Given the description of an element on the screen output the (x, y) to click on. 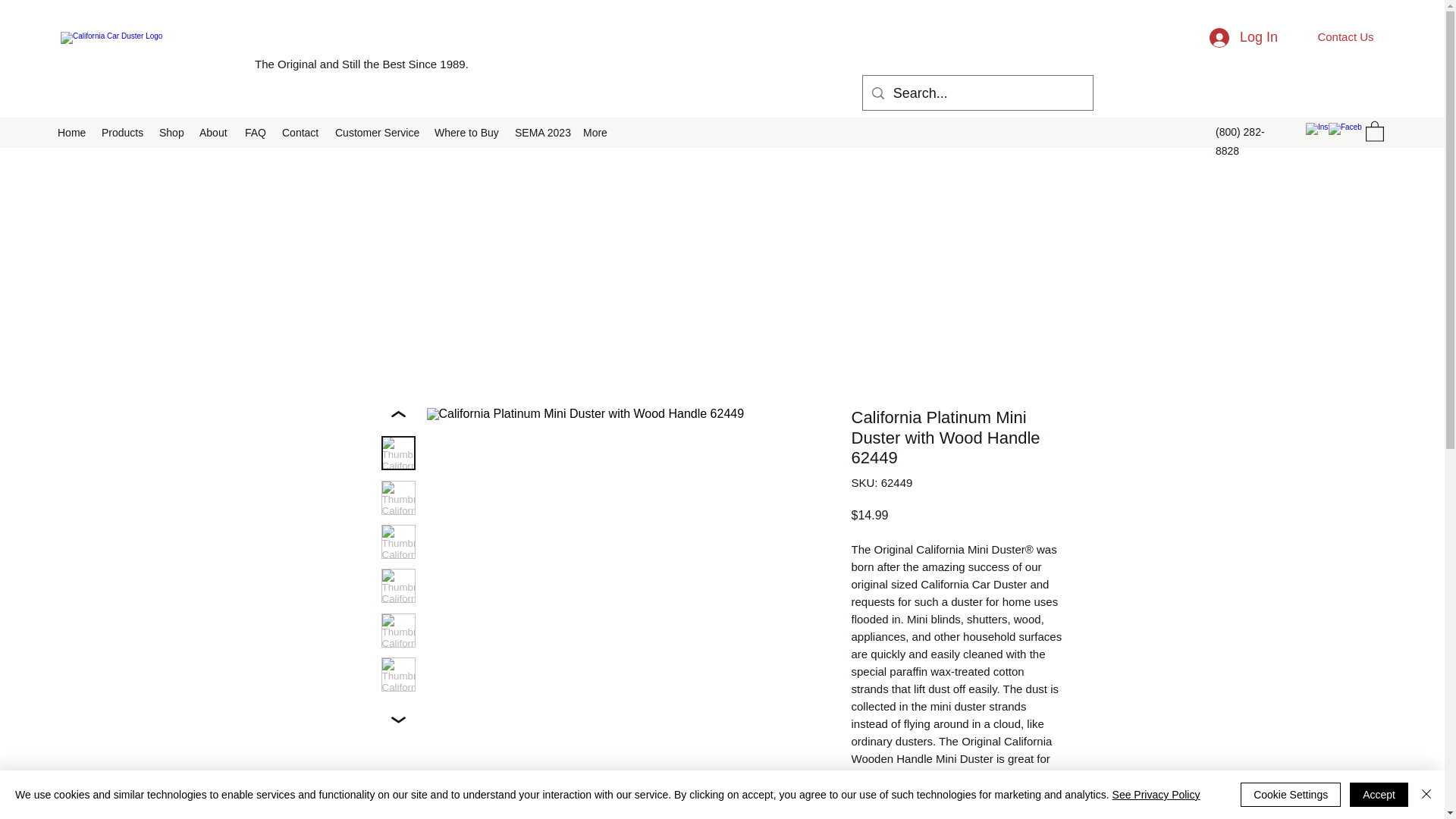
Home (71, 132)
Where to Buy (466, 132)
Contact Us (1345, 37)
About (214, 132)
Products (122, 132)
Customer Service (376, 132)
Contact (301, 132)
FAQ (256, 132)
Log In (1243, 37)
Shop (171, 132)
SEMA 2023 (540, 132)
See Privacy Policy (1155, 794)
